Given the description of an element on the screen output the (x, y) to click on. 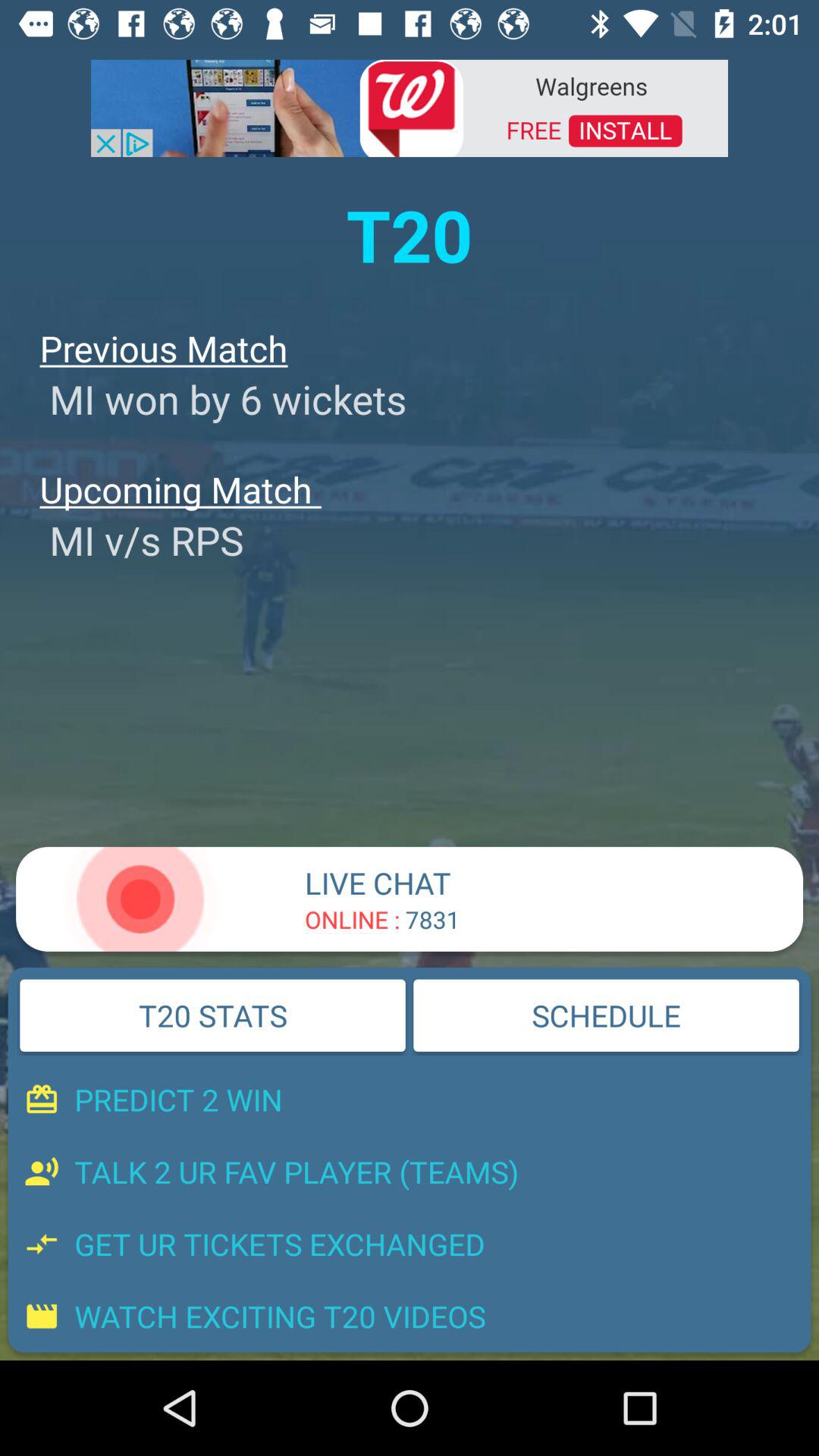
advertisement area (409, 106)
